Given the description of an element on the screen output the (x, y) to click on. 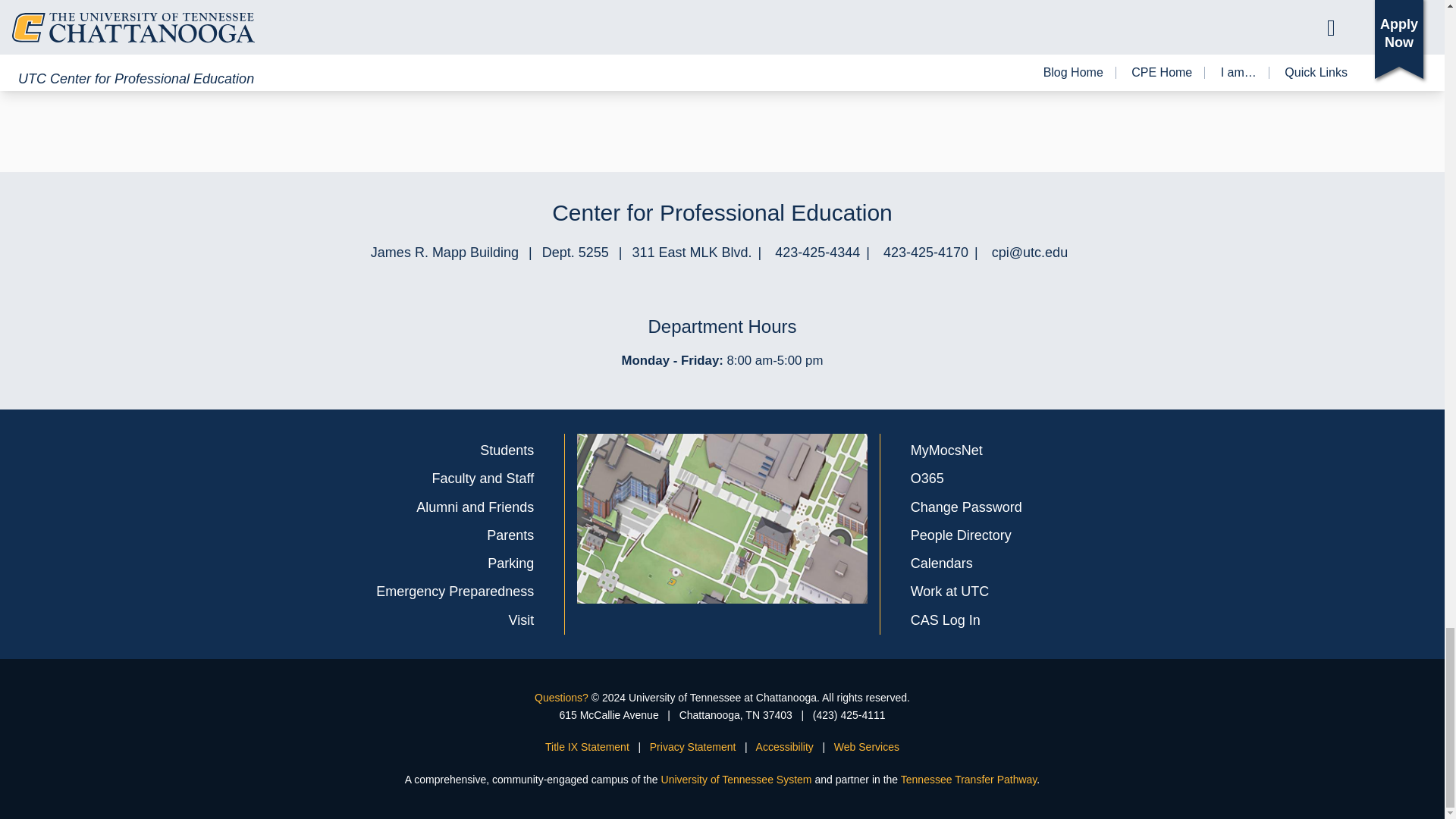
email us (1029, 252)
call us (817, 252)
